Given the description of an element on the screen output the (x, y) to click on. 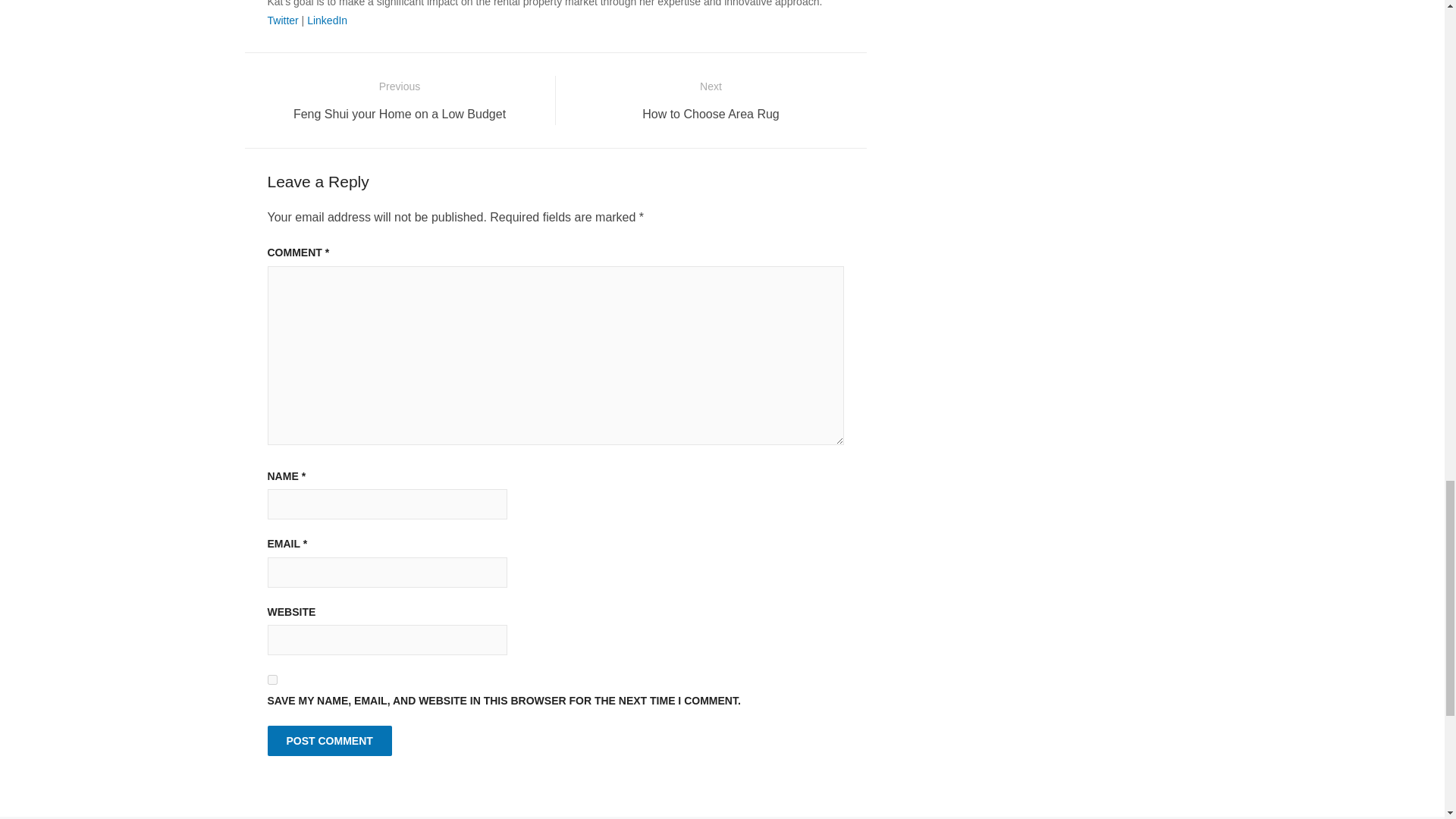
yes (271, 679)
Post Comment (710, 100)
Twitter (328, 740)
LinkedIn (282, 20)
Post Comment (327, 20)
